Given the description of an element on the screen output the (x, y) to click on. 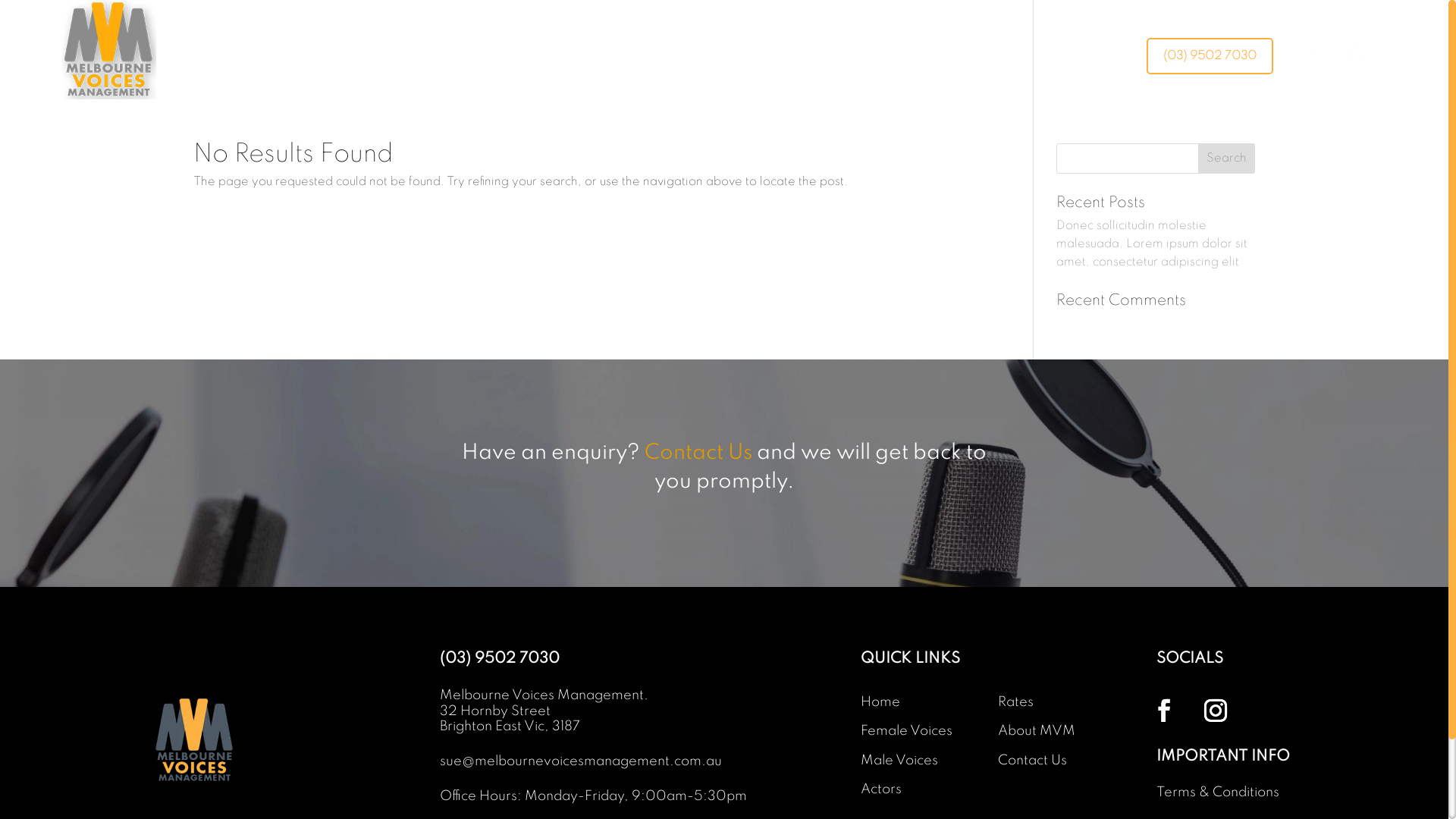
Contact Us Element type: text (1031, 760)
(03) 9502 7030 Element type: text (1209, 55)
(03) 9502 7030 Element type: text (499, 658)
About MVM Element type: text (1036, 730)
Male Voices Element type: text (899, 760)
Search Element type: text (1226, 158)
RATES Element type: text (887, 74)
Contact Us Element type: text (698, 453)
ACTORS Element type: text (814, 74)
Terms & Conditions Element type: text (1217, 792)
HOME Element type: text (505, 74)
sue@melbournevoicesmanagement.com.au Element type: text (580, 761)
Follow on Facebook Element type: hover (1163, 710)
CONTACT US Element type: text (1077, 74)
mvmlogoFooter Element type: hover (197, 736)
Home Element type: text (880, 702)
Actors Element type: text (880, 789)
Follow on Instagram Element type: hover (1215, 710)
Female Voices Element type: text (906, 730)
ABOUT MVM Element type: text (972, 74)
MALE VOICES Element type: text (718, 74)
FEMALE VOICES Element type: text (600, 74)
Rates Element type: text (1015, 702)
